Given the description of an element on the screen output the (x, y) to click on. 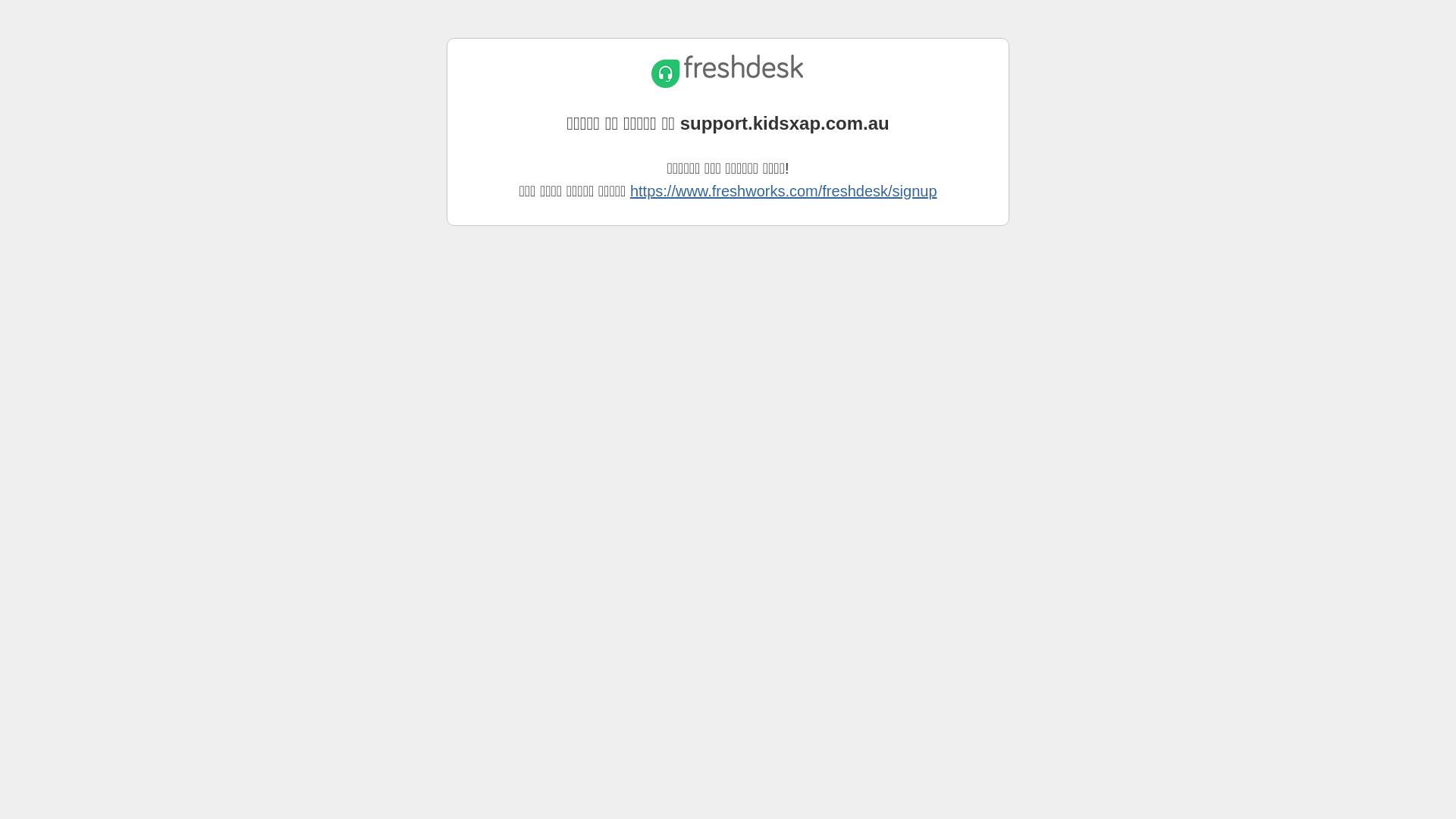
https://www.freshworks.com/freshdesk/signup Element type: text (783, 190)
